Given the description of an element on the screen output the (x, y) to click on. 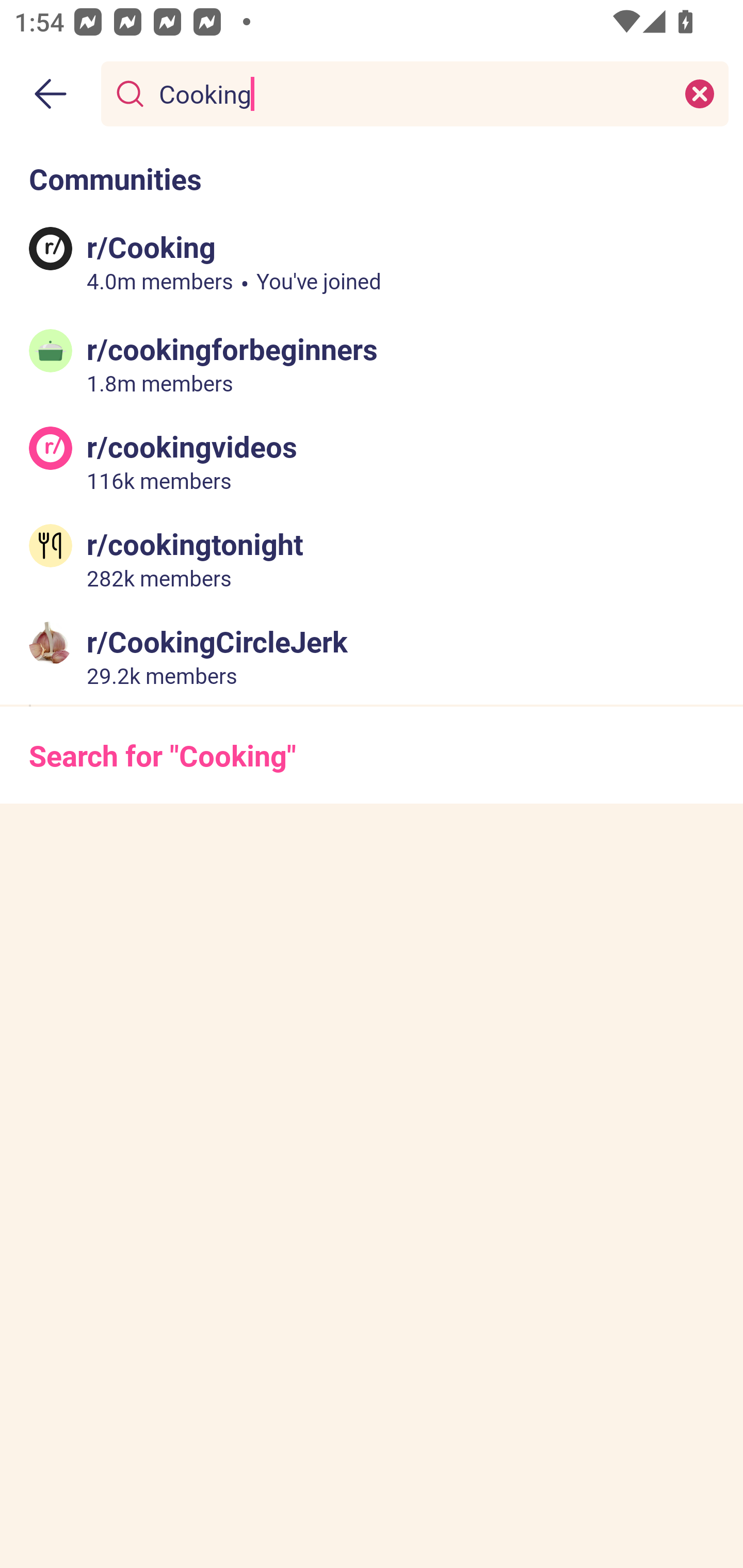
Back (50, 93)
Cooking (410, 93)
Clear search (699, 93)
r/cookingvideos 116k members 116 thousand members (371, 460)
r/cookingtonight 282k members 282 thousand members (371, 557)
Search for "Cooking" (371, 754)
